Given the description of an element on the screen output the (x, y) to click on. 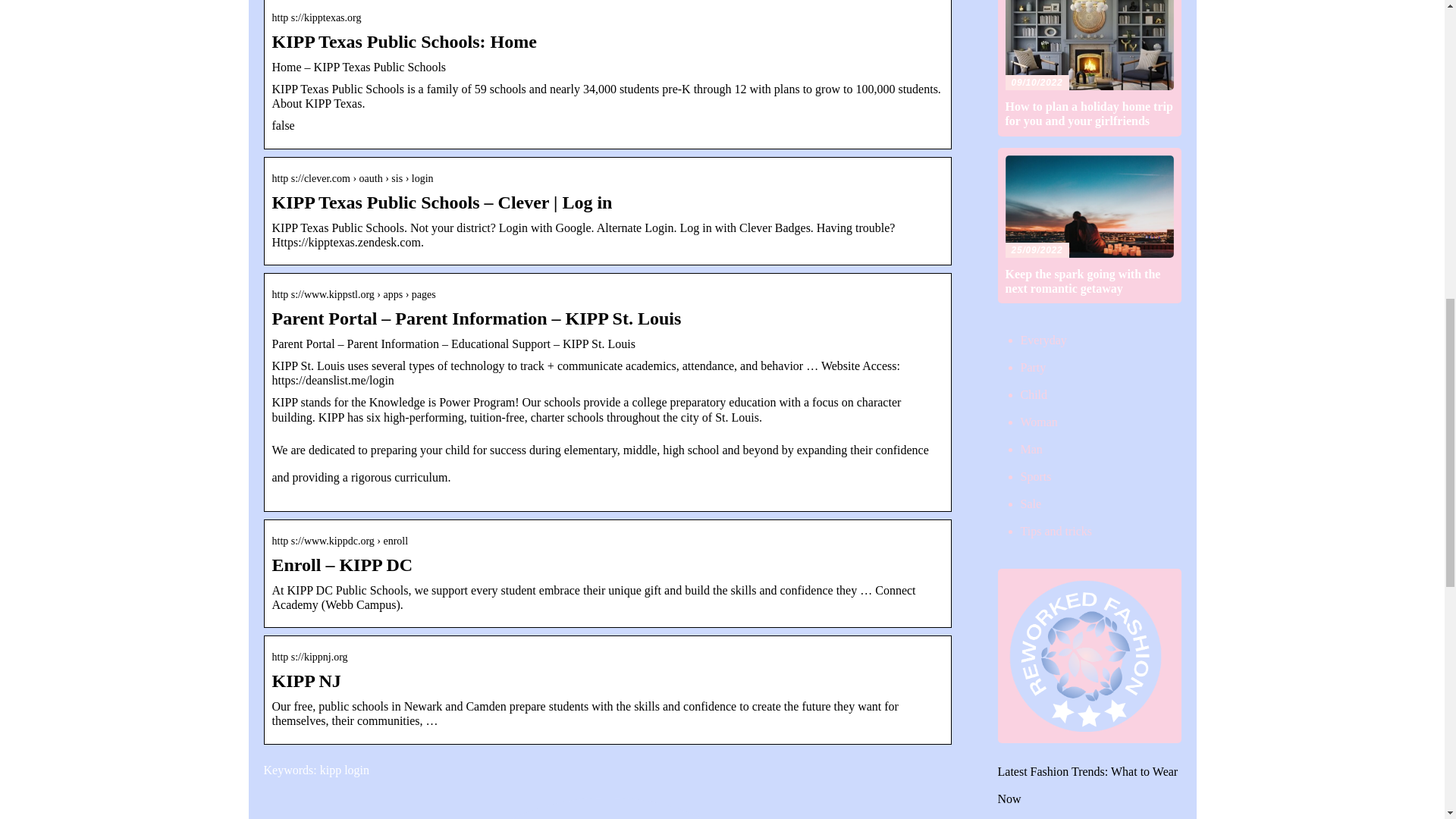
Child (1034, 394)
Man (1031, 449)
Latest Fashion Trends: What to Wear Now (1087, 784)
Tips and tricks (1056, 530)
Woman (1039, 421)
Party (1033, 367)
Everyday (1043, 339)
Sale (1031, 503)
Sports (1035, 476)
